Given the description of an element on the screen output the (x, y) to click on. 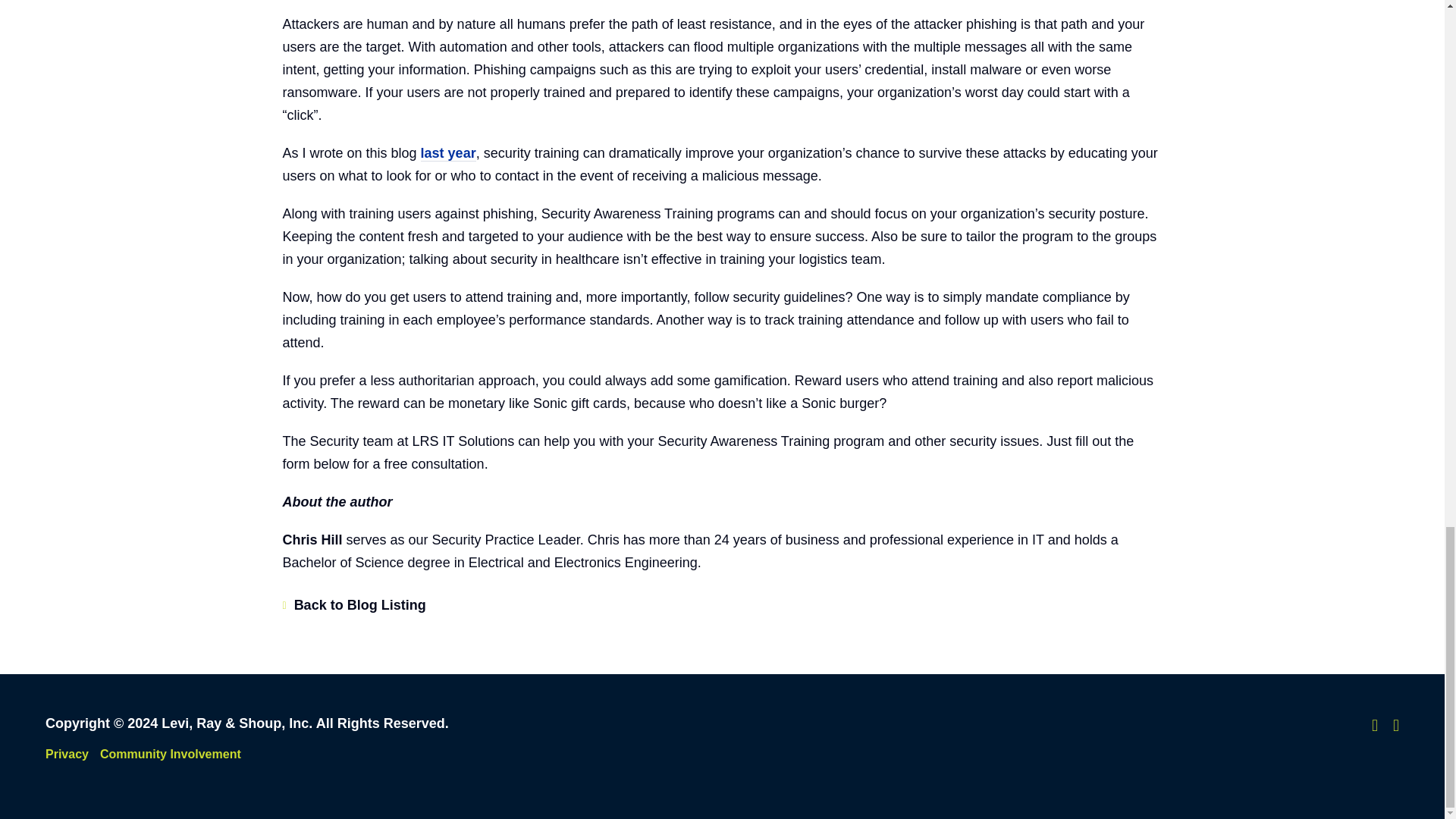
Follow us on linkedin (1396, 724)
LRS IT Solutions linkedin account (1396, 724)
Privacy (66, 753)
Back to Blog Listing (353, 605)
last year (448, 153)
Follow us on x-twitter (1374, 724)
Community Involvement (170, 753)
LRS IT Solutions x-twitter account (1374, 724)
